Given the description of an element on the screen output the (x, y) to click on. 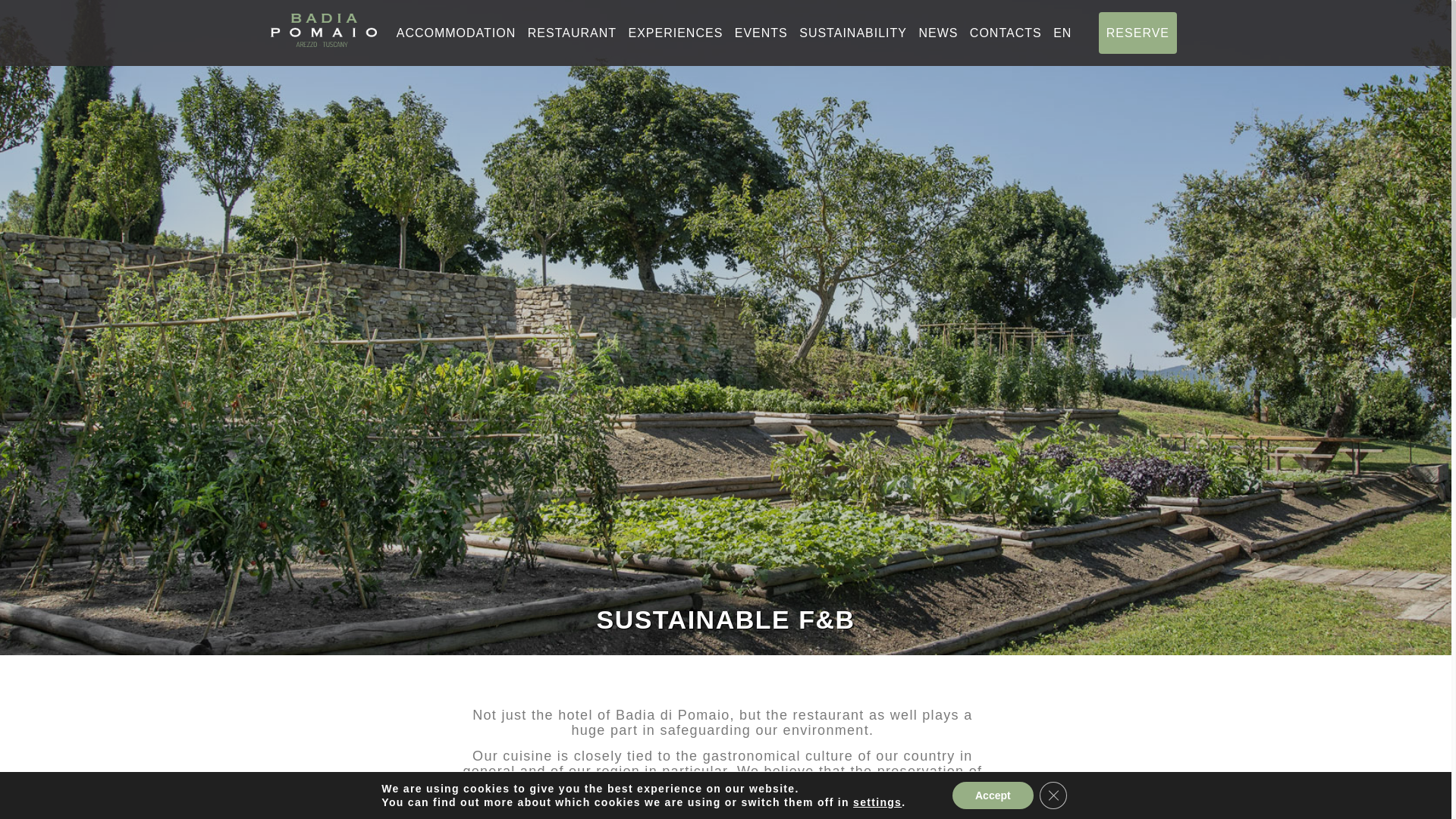
CONTACTS (1005, 32)
EXPERIENCES (674, 32)
EVENTS (761, 32)
RESERVE (1137, 33)
ACCOMMODATION (456, 32)
RESTAURANT (571, 32)
SUSTAINABILITY (853, 32)
